Given the description of an element on the screen output the (x, y) to click on. 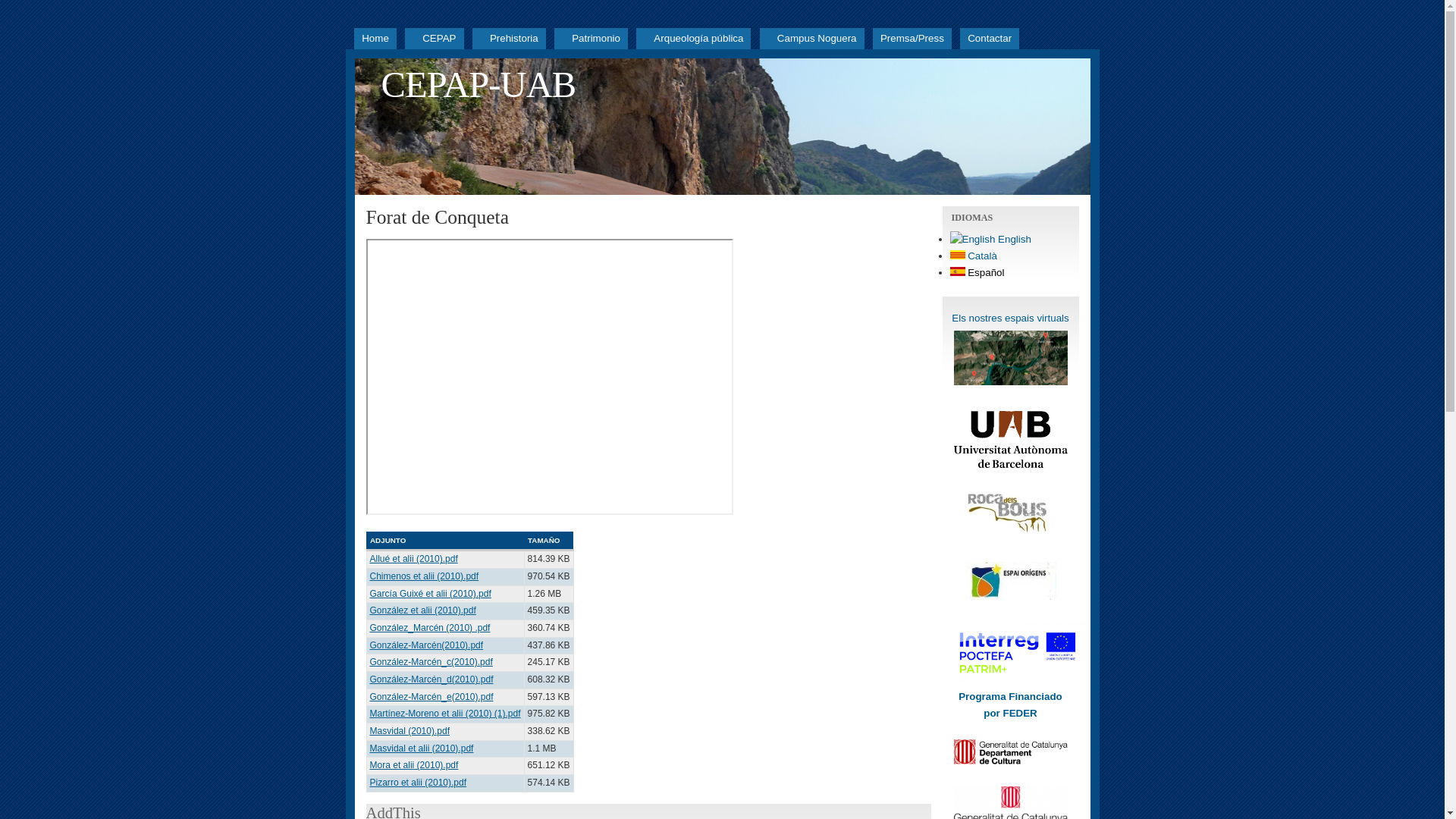
Programa Financiado por FEDER Element type: text (1010, 704)
Pizarro et alii (2010).pdf Element type: text (418, 782)
Campus Noguera Element type: text (811, 38)
Patrimonio Element type: text (590, 38)
Prehistoria Element type: text (509, 38)
Contactar Element type: text (989, 38)
Chimenos et alii (2010).pdf Element type: text (424, 576)
Mora et alii (2010).pdf Element type: text (414, 764)
CEPAP-UAB Element type: text (477, 84)
CEPAP Element type: text (433, 38)
English Element type: hover (971, 239)
English Element type: text (989, 238)
Masvidal (2010).pdf Element type: text (410, 730)
Els nostres espais virtuals Element type: text (1009, 317)
Masvidal et alii (2010).pdf Element type: text (421, 748)
Home Element type: text (375, 38)
Premsa/Press Element type: text (911, 38)
